Given the description of an element on the screen output the (x, y) to click on. 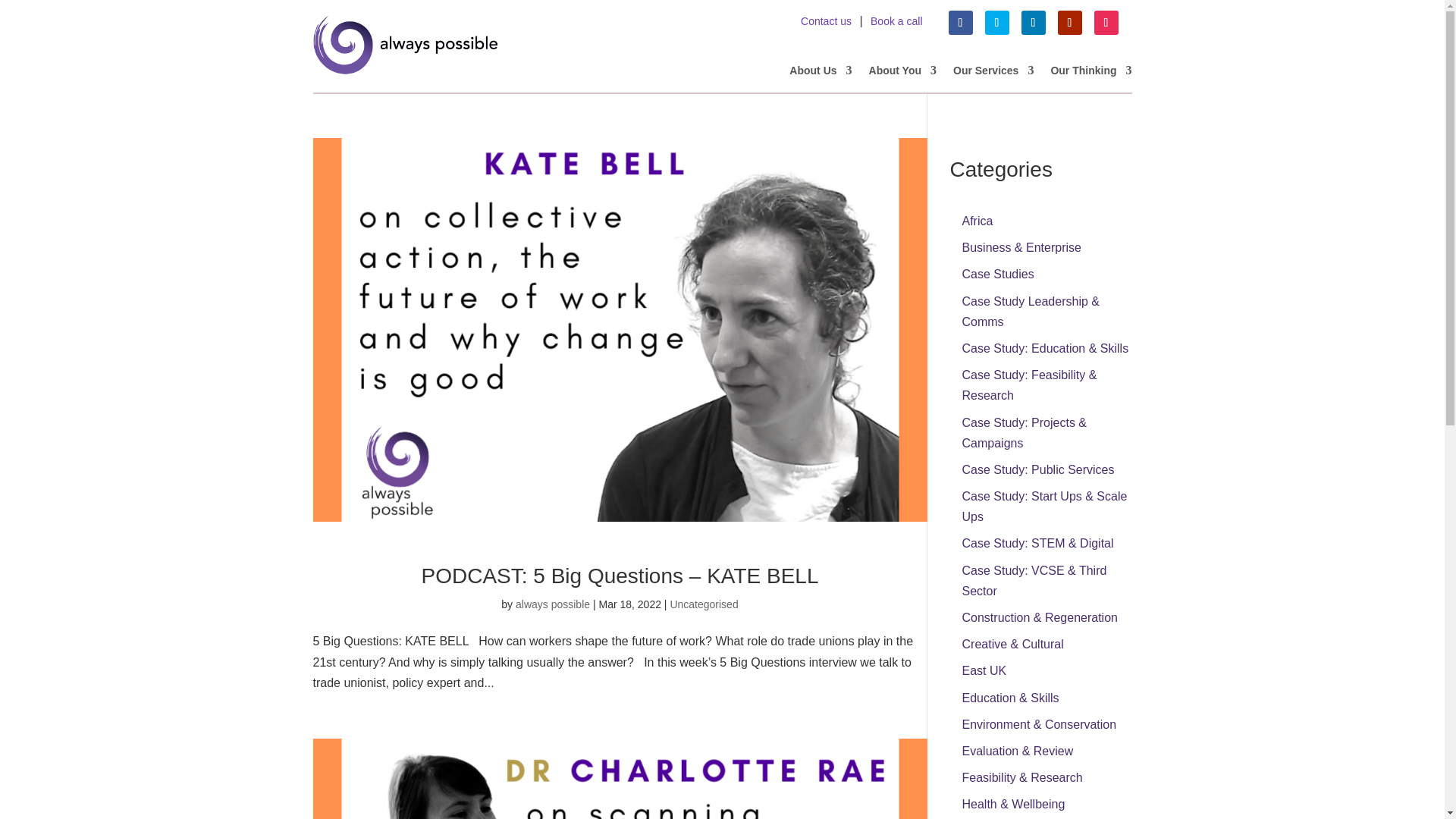
Follow on Twitter (996, 22)
Contact us (826, 21)
Posts by always possible (552, 604)
always possible (552, 604)
Our Thinking (1090, 73)
Our Services (993, 73)
Africa (976, 220)
Book a call (896, 21)
About Us (820, 73)
Uncategorised (703, 604)
